Given the description of an element on the screen output the (x, y) to click on. 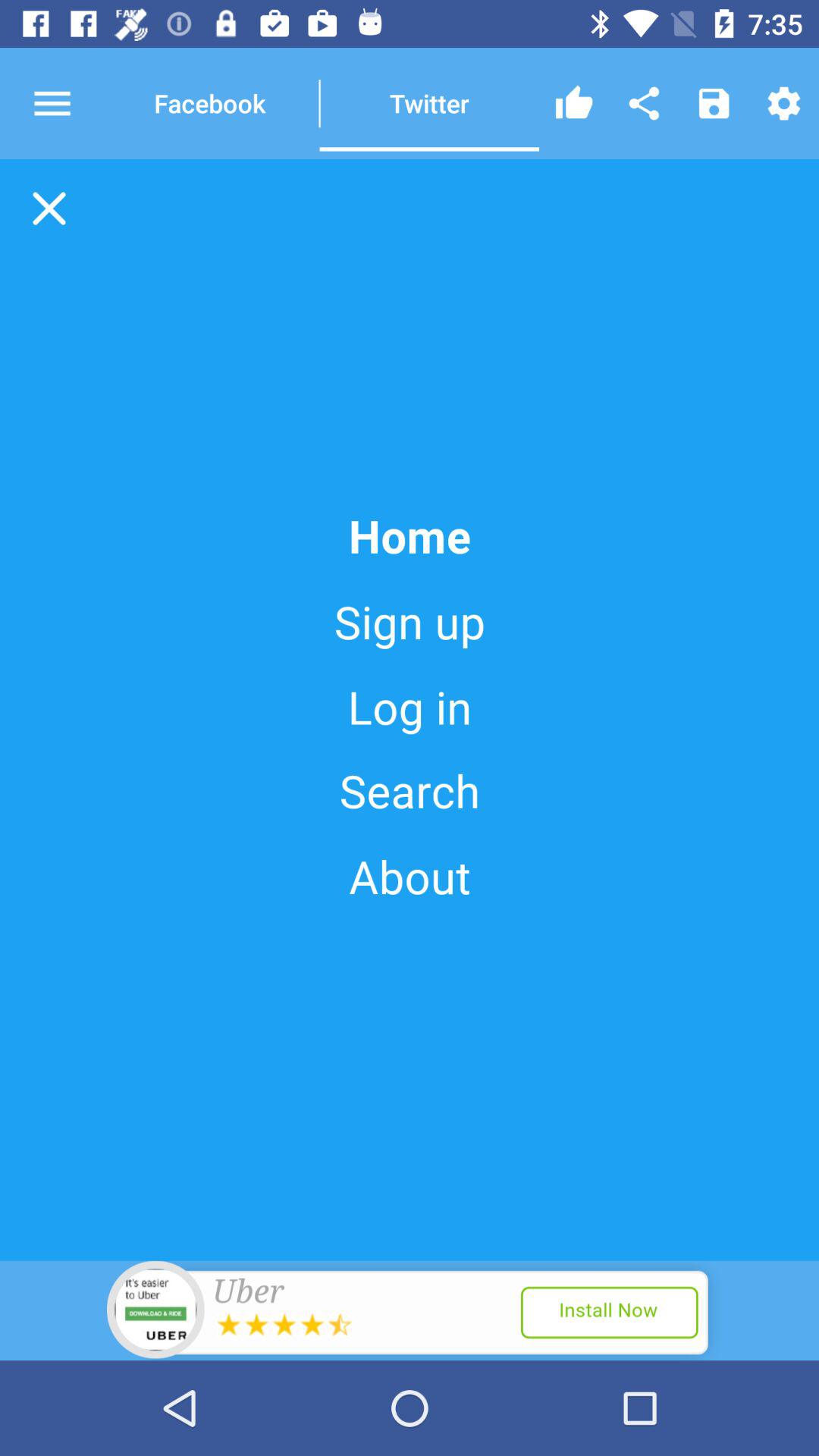
more option (65, 103)
